Given the description of an element on the screen output the (x, y) to click on. 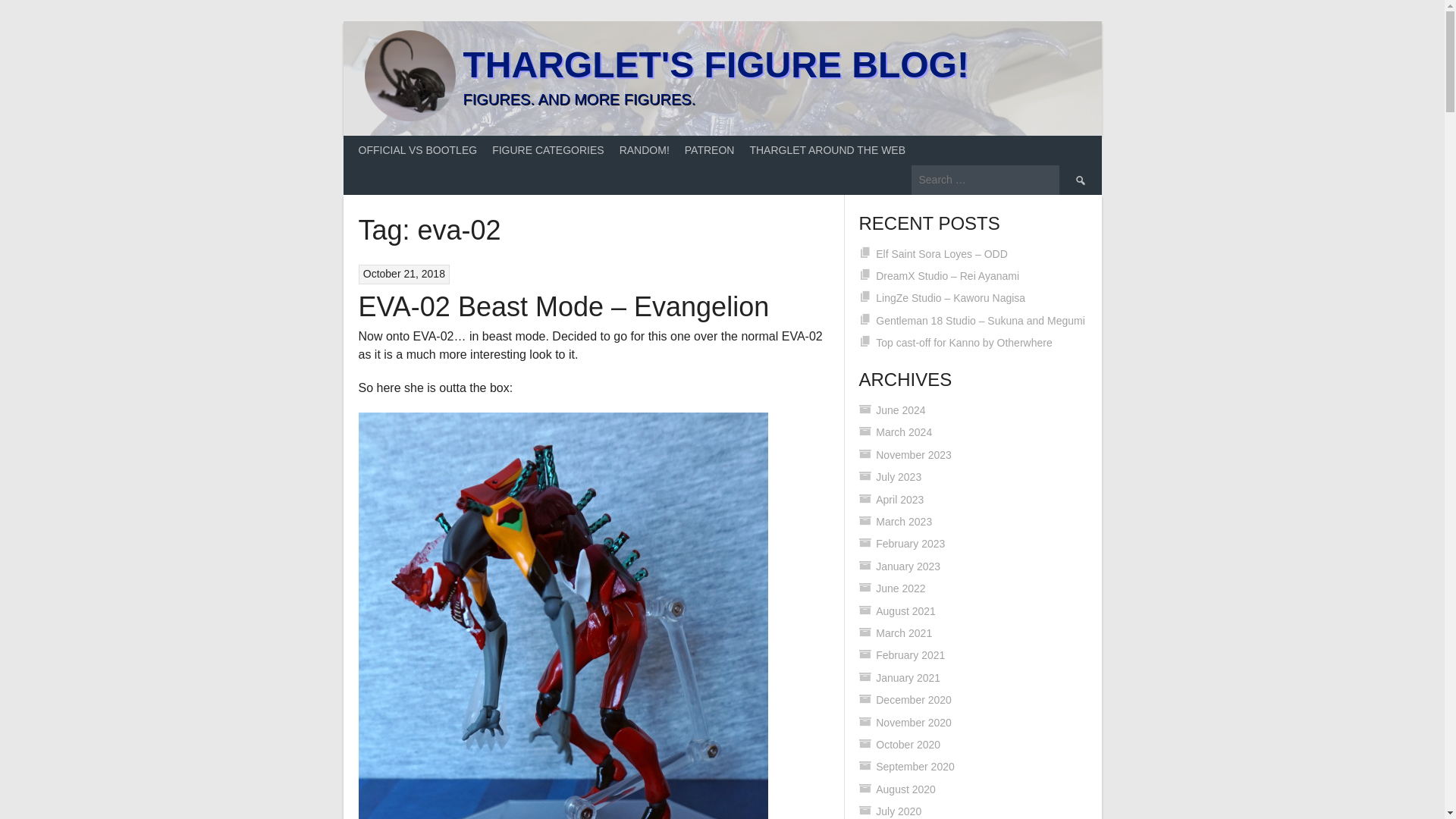
Search (1079, 179)
RANDOM! (644, 150)
THARGLET'S FIGURE BLOG! (715, 65)
October 21, 2018 (403, 273)
FIGURE CATEGORIES (547, 150)
THARGLET AROUND THE WEB (826, 150)
PATREON (709, 150)
OFFICIAL VS BOOTLEG (417, 150)
